Given the description of an element on the screen output the (x, y) to click on. 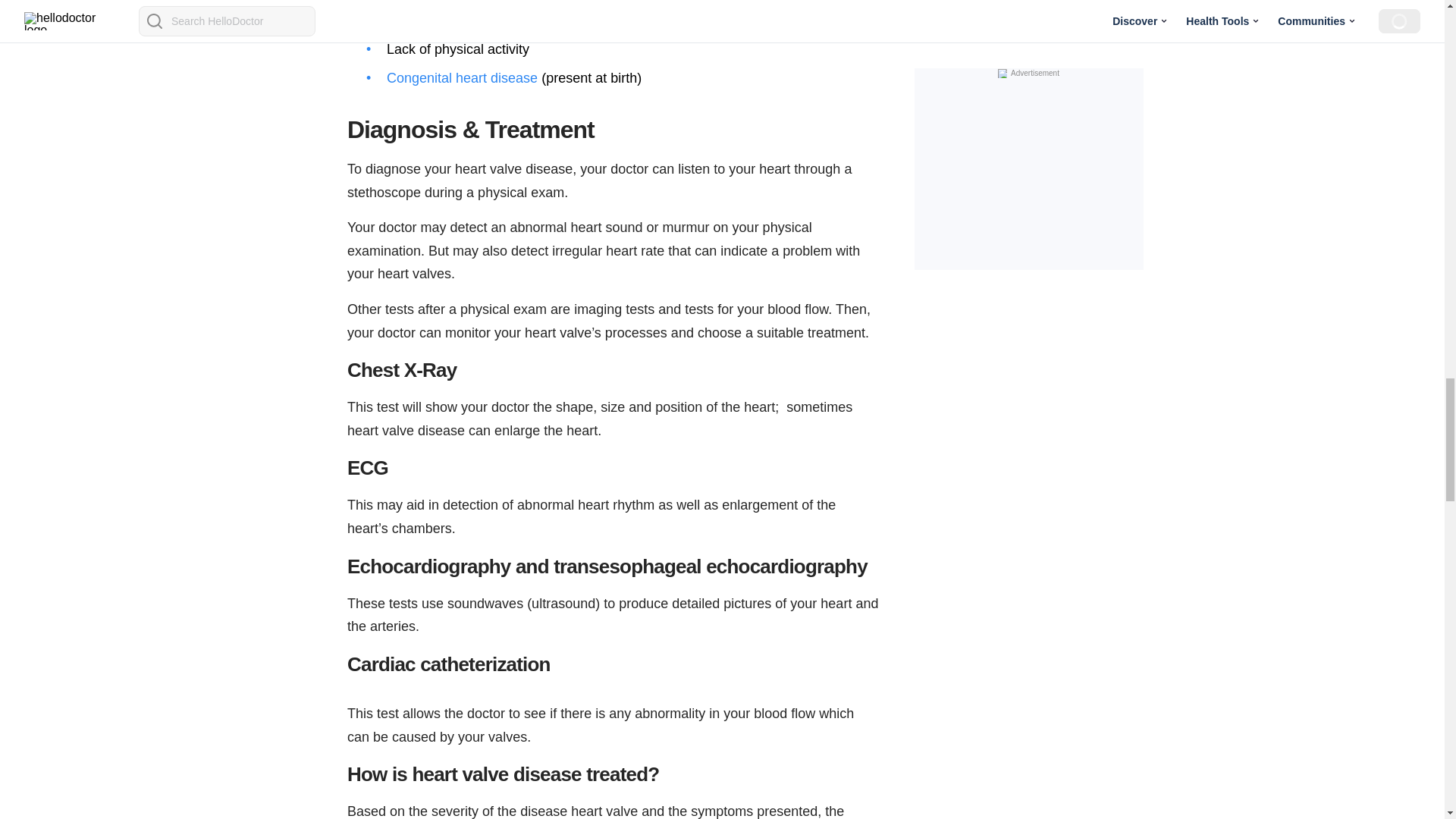
Heart Disease and How it Affects The Rest of The Body (488, 233)
Hypertension: All You Need to Know (427, 342)
Congenital Heart Disease Complications to Watch Out For (462, 457)
